Given the description of an element on the screen output the (x, y) to click on. 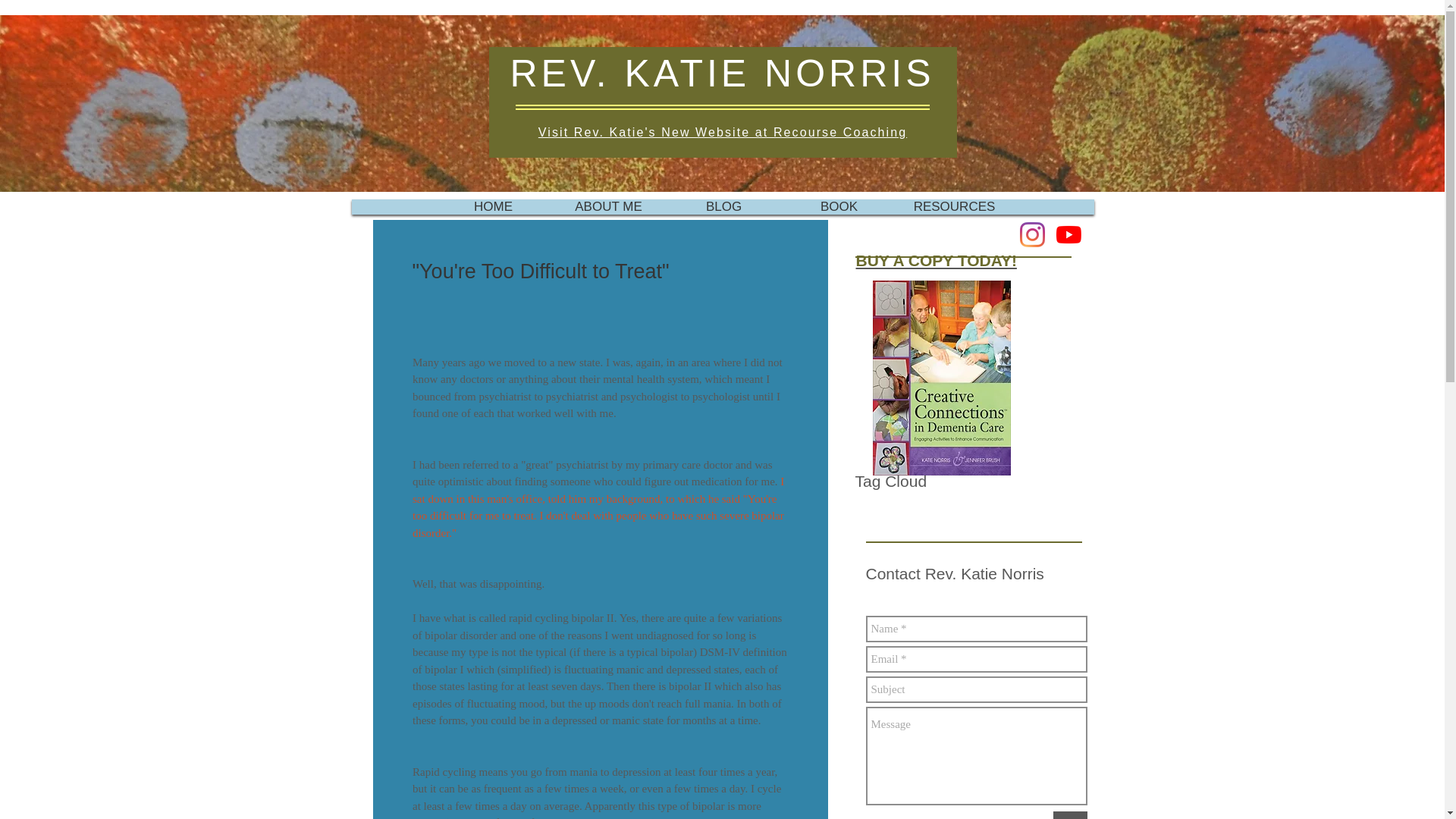
Pin to Pinterest (1033, 458)
Site Search (941, 509)
Visit Rev. Katie's New Website at Recourse Coaching (722, 132)
RESOURCES (954, 206)
BOOK (839, 206)
Send (1069, 815)
ABOUT ME (608, 206)
BLOG (723, 206)
HOME (493, 206)
BUY A COPY TODAY! (936, 260)
REV. KATIE NORRIS (721, 73)
